Given the description of an element on the screen output the (x, y) to click on. 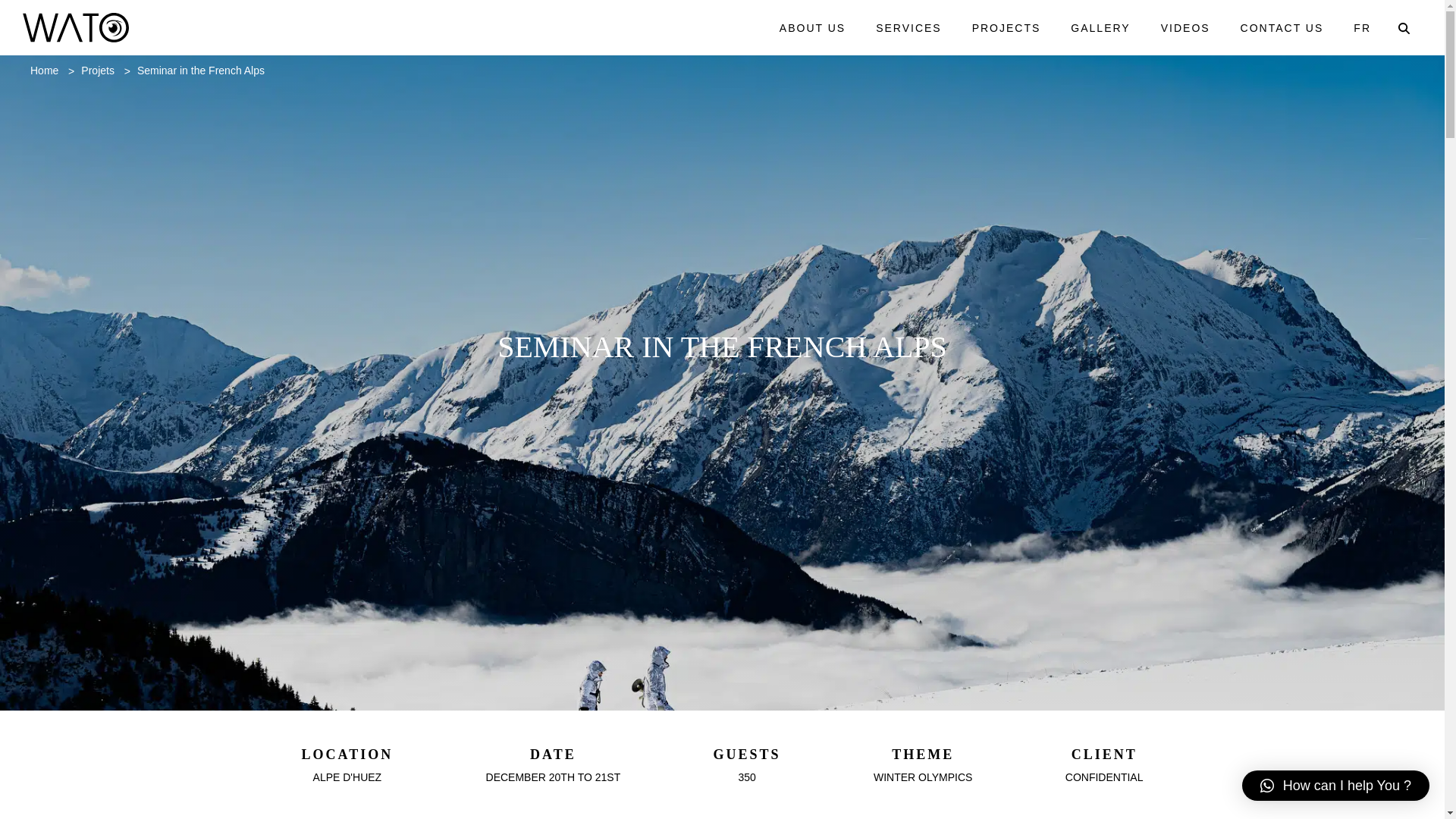
SERVICES (909, 27)
FR (1362, 27)
agence wato (76, 26)
Projets (98, 70)
ABOUT US (811, 27)
GALLERY (1099, 27)
VIDEOS (1184, 27)
CONTACT US (1281, 27)
Home (44, 70)
PROJECTS (1006, 27)
